Given the description of an element on the screen output the (x, y) to click on. 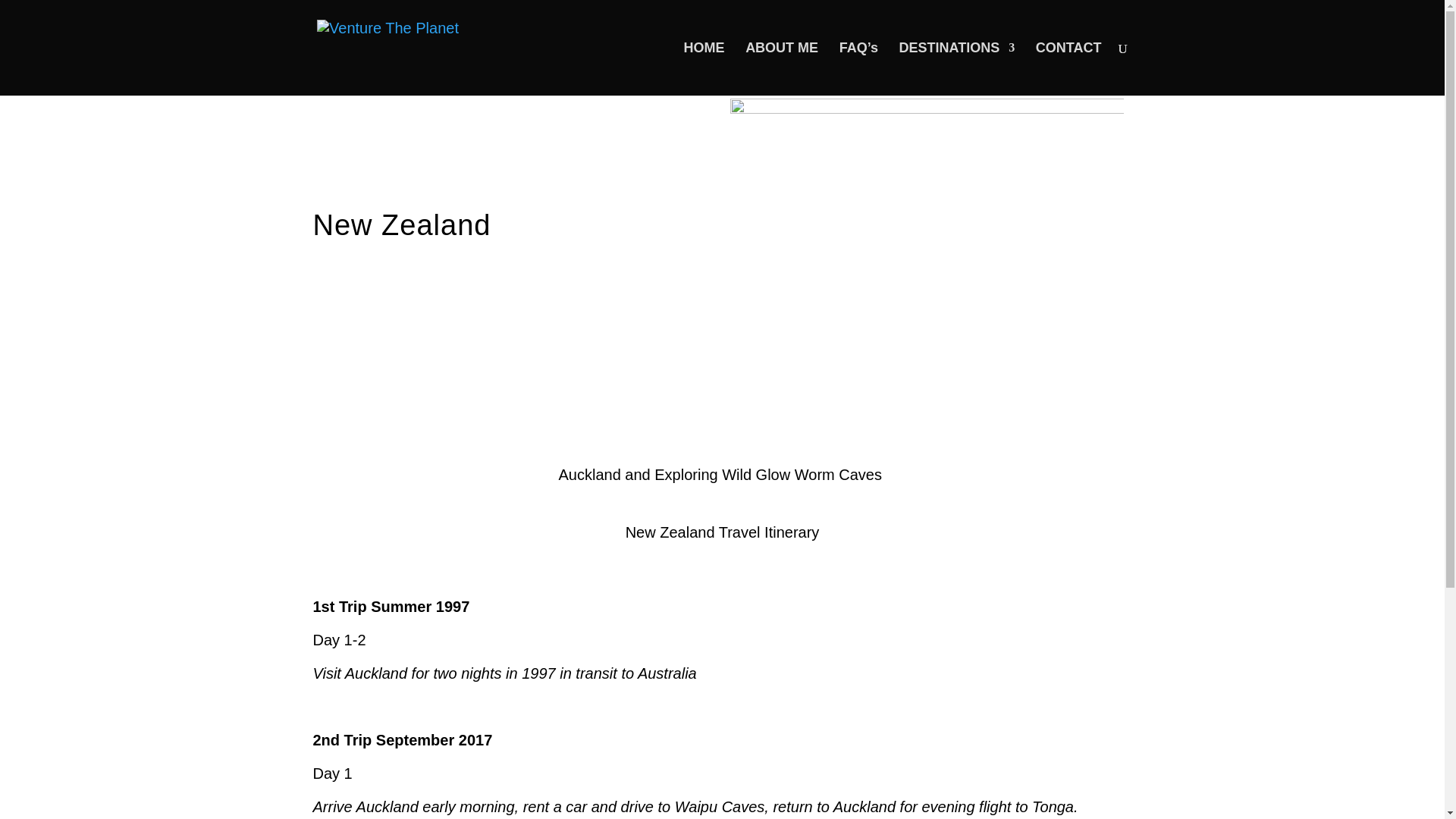
ABOUT ME (781, 68)
CONTACT (1068, 68)
DESTINATIONS (956, 68)
